Given the description of an element on the screen output the (x, y) to click on. 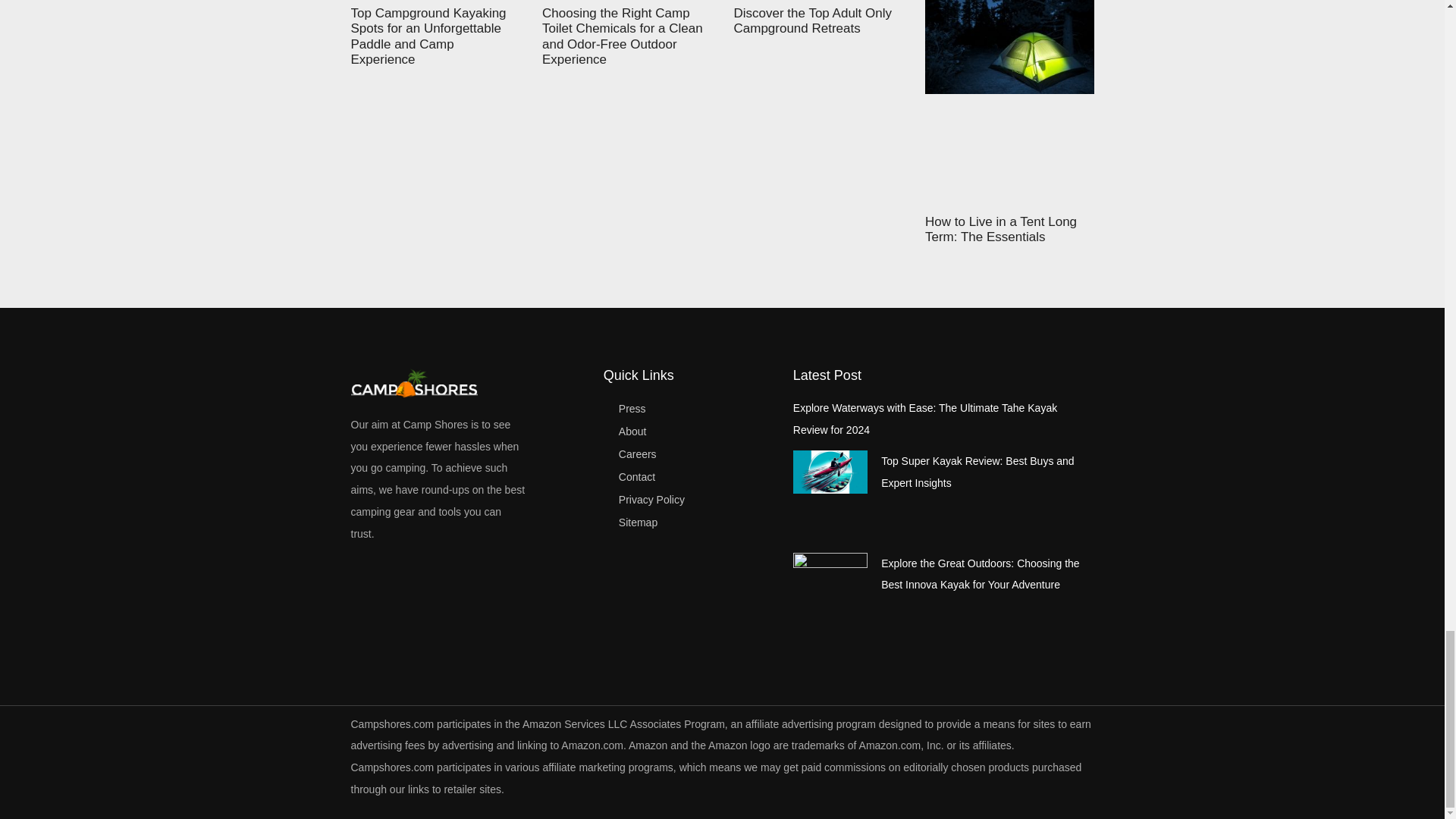
Press (690, 408)
Privacy Policy (690, 499)
Contact (690, 477)
Sitemap (690, 522)
How to Live in a Tent Long Term: The Essentials (1000, 229)
About (690, 431)
Top Super Kayak Review: Best Buys and Expert Insights (977, 471)
